Given the description of an element on the screen output the (x, y) to click on. 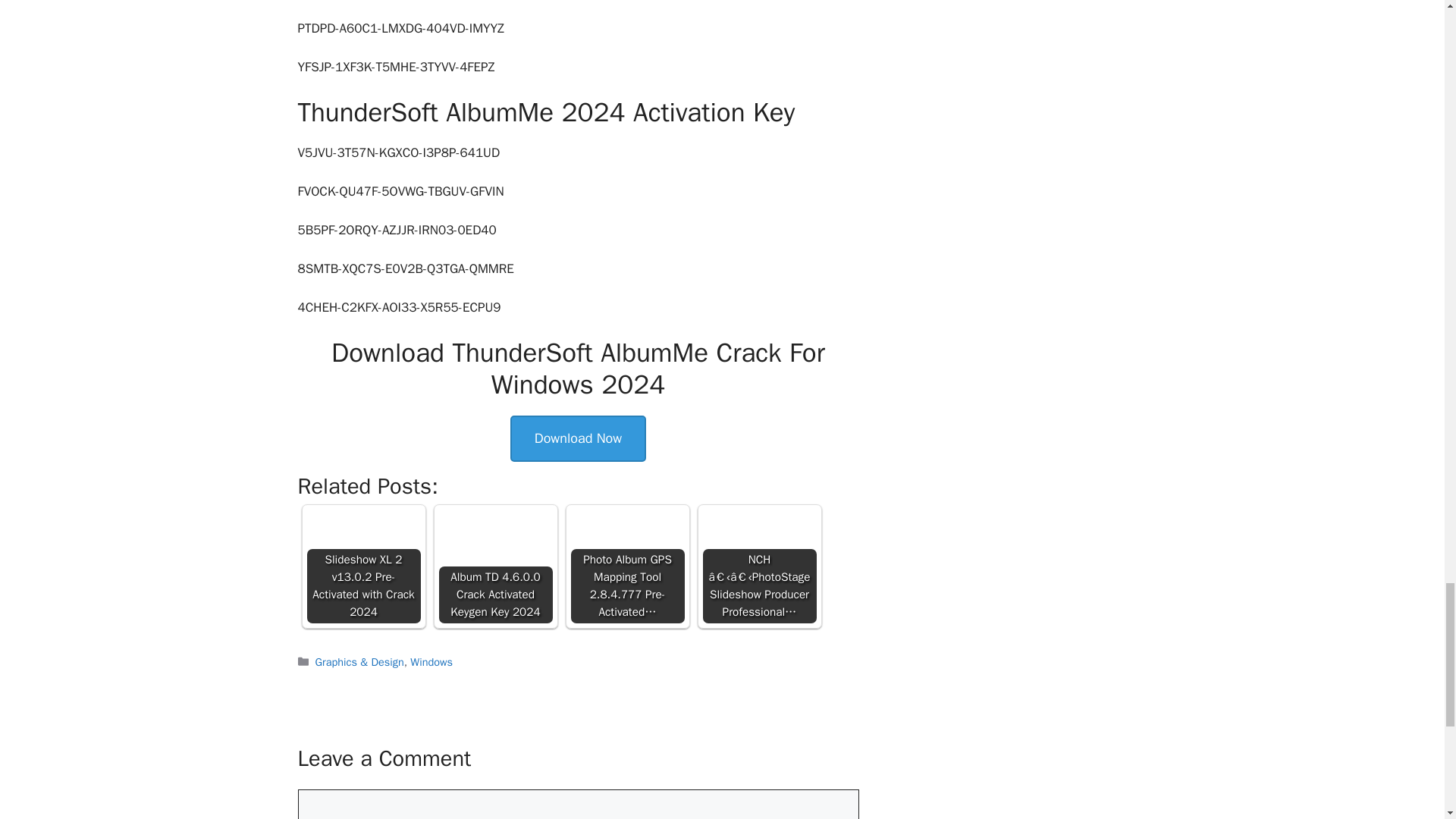
Download Now (578, 438)
Slideshow XL 2 v13.0.2 Pre-Activated with Crack 2024 (363, 557)
Album TD 4.6.0.0 Crack Activated Keygen Key 2024 (495, 557)
